Given the description of an element on the screen output the (x, y) to click on. 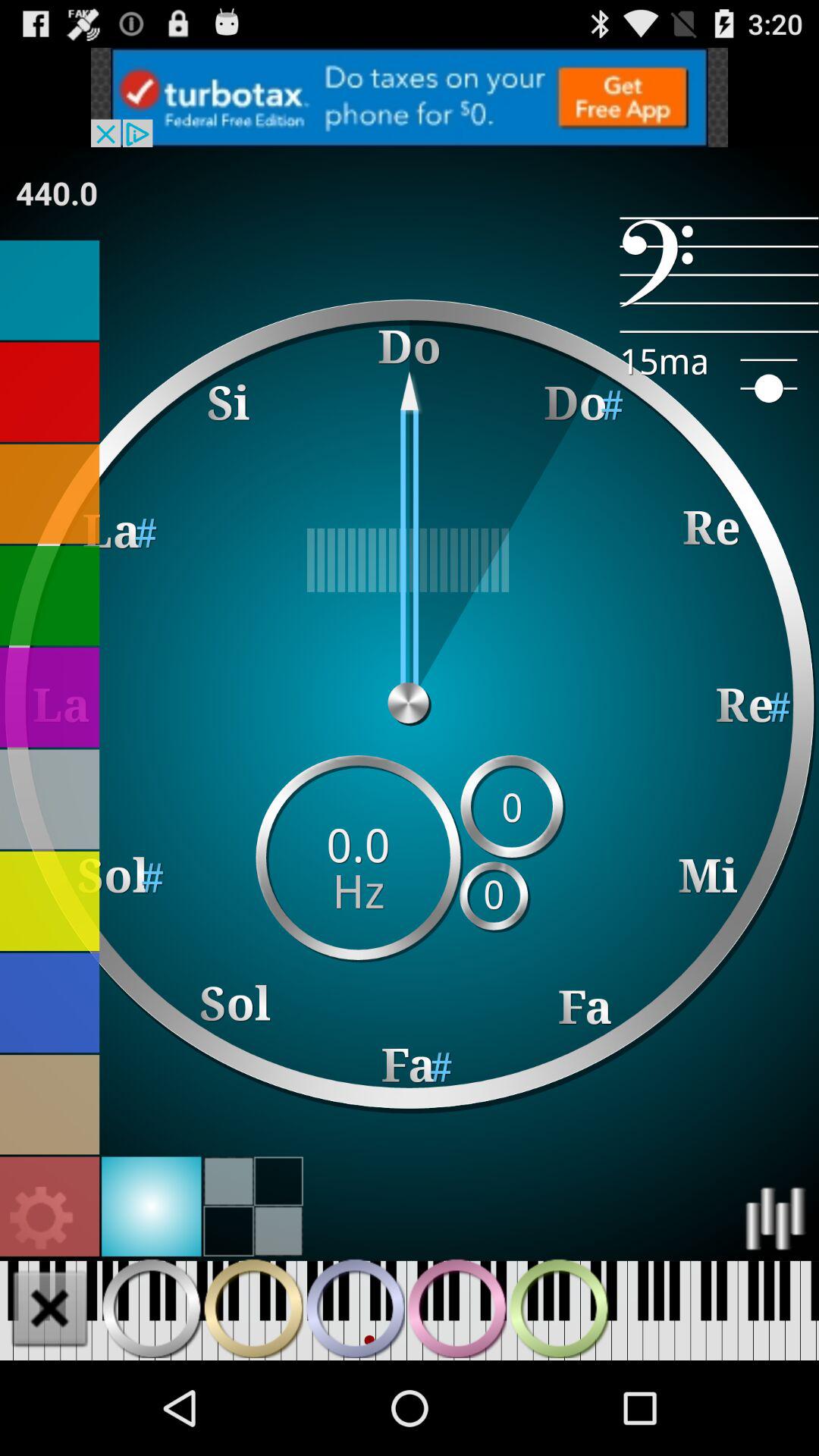
change background to blue (49, 1002)
